Given the description of an element on the screen output the (x, y) to click on. 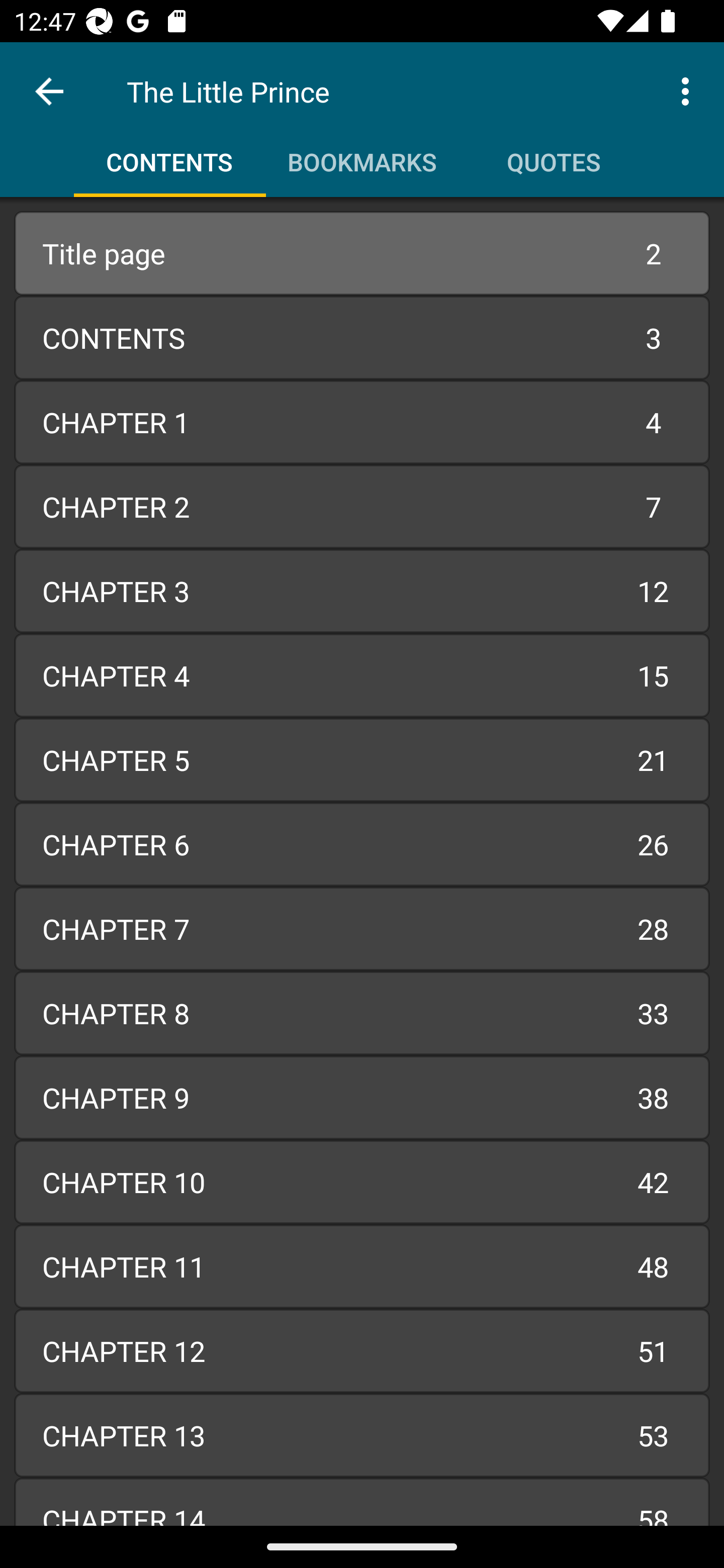
Back (49, 91)
More options (688, 90)
Bookmarks BOOKMARKS (361, 154)
Quotes QUOTES (554, 154)
Title page 2 (361, 252)
CONTENTS 3 (361, 336)
CHAPTER 1 4 (361, 421)
CHAPTER 2 7 (361, 506)
CHAPTER 3 12 (361, 590)
CHAPTER 4 15 (361, 675)
CHAPTER 5 21 (361, 760)
CHAPTER 6 26 (361, 843)
CHAPTER 7 28 (361, 927)
CHAPTER 8 33 (361, 1012)
CHAPTER 9 38 (361, 1097)
CHAPTER 10 42 (361, 1181)
CHAPTER 11 48 (361, 1266)
CHAPTER 12 51 (361, 1350)
CHAPTER 13 53 (361, 1434)
